Given the description of an element on the screen output the (x, y) to click on. 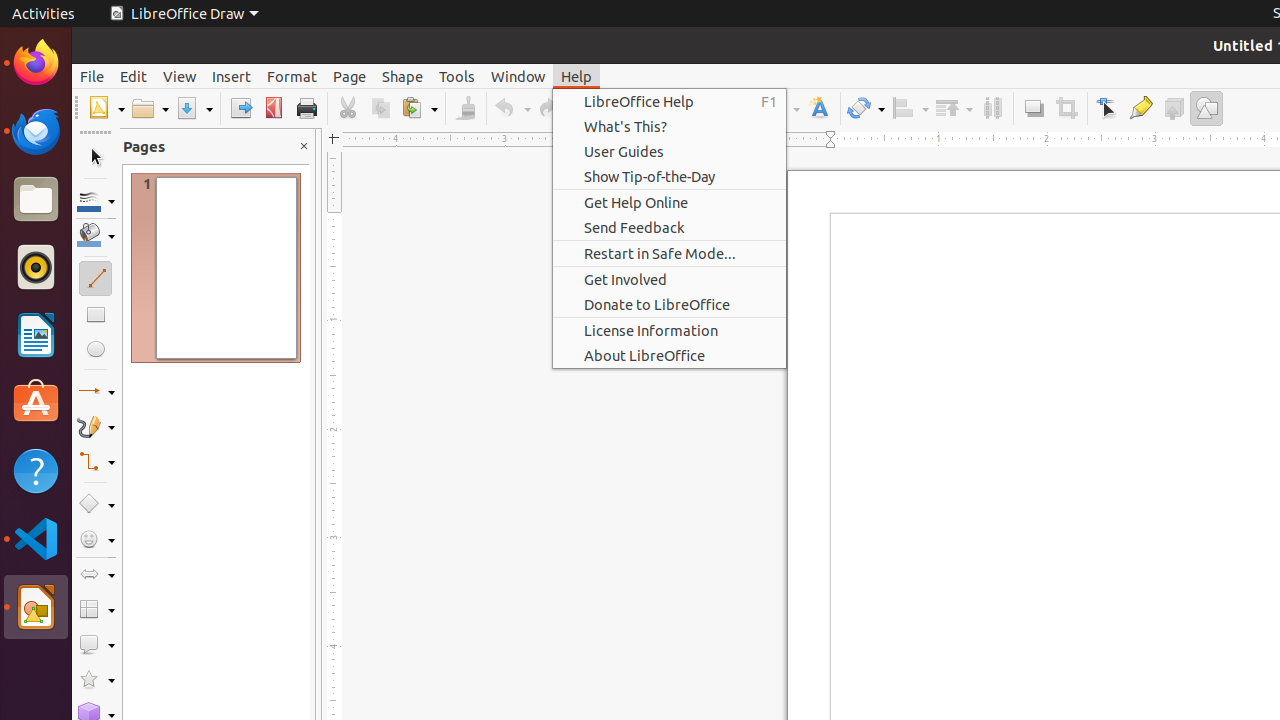
Show Tip-of-the-Day Element type: menu-item (669, 176)
Files Element type: push-button (36, 199)
Page Element type: menu (349, 76)
Paste Element type: push-button (419, 108)
Visual Studio Code Element type: push-button (36, 538)
